Given the description of an element on the screen output the (x, y) to click on. 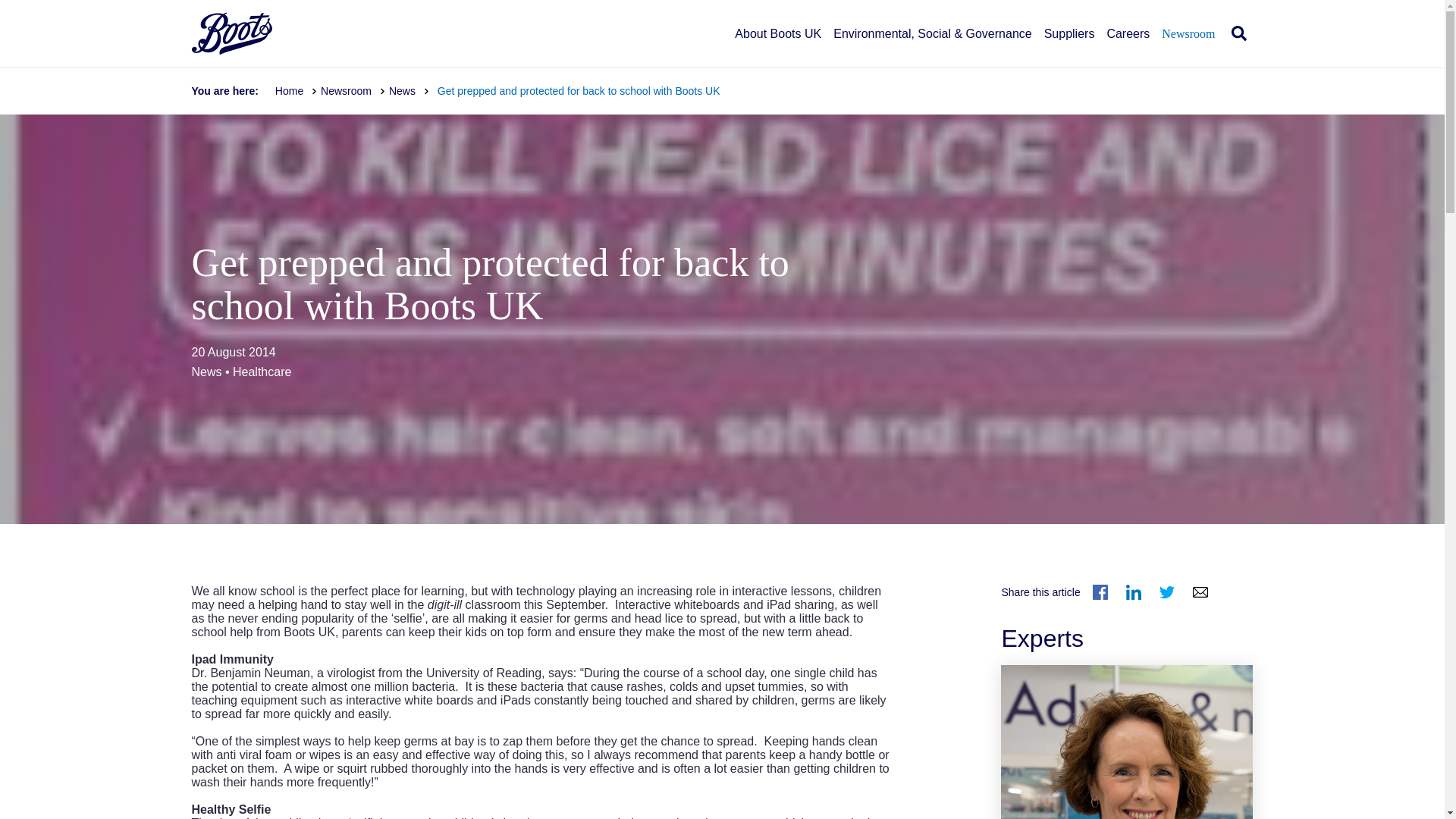
Newsroom (1187, 47)
Suppliers (1068, 47)
Careers (1128, 47)
Home (296, 91)
in (1133, 591)
fb (1100, 591)
About Boots UK (778, 47)
t (1166, 591)
Newsroom (352, 91)
News (408, 91)
Boots UK (230, 33)
